Given the description of an element on the screen output the (x, y) to click on. 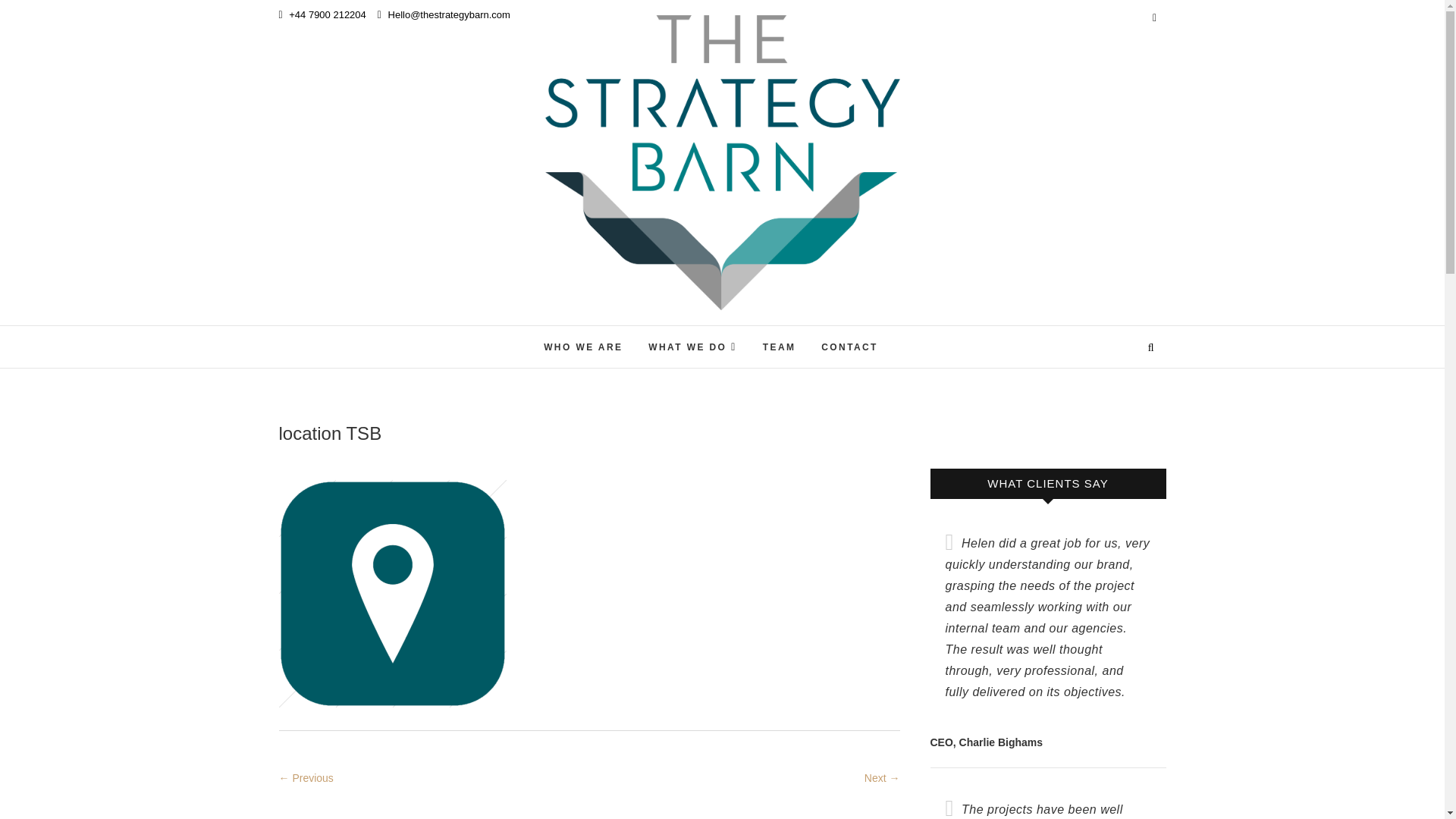
WHAT WE DO (692, 346)
TEAM (779, 347)
CONTACT (849, 347)
WHO WE ARE (582, 347)
